Given the description of an element on the screen output the (x, y) to click on. 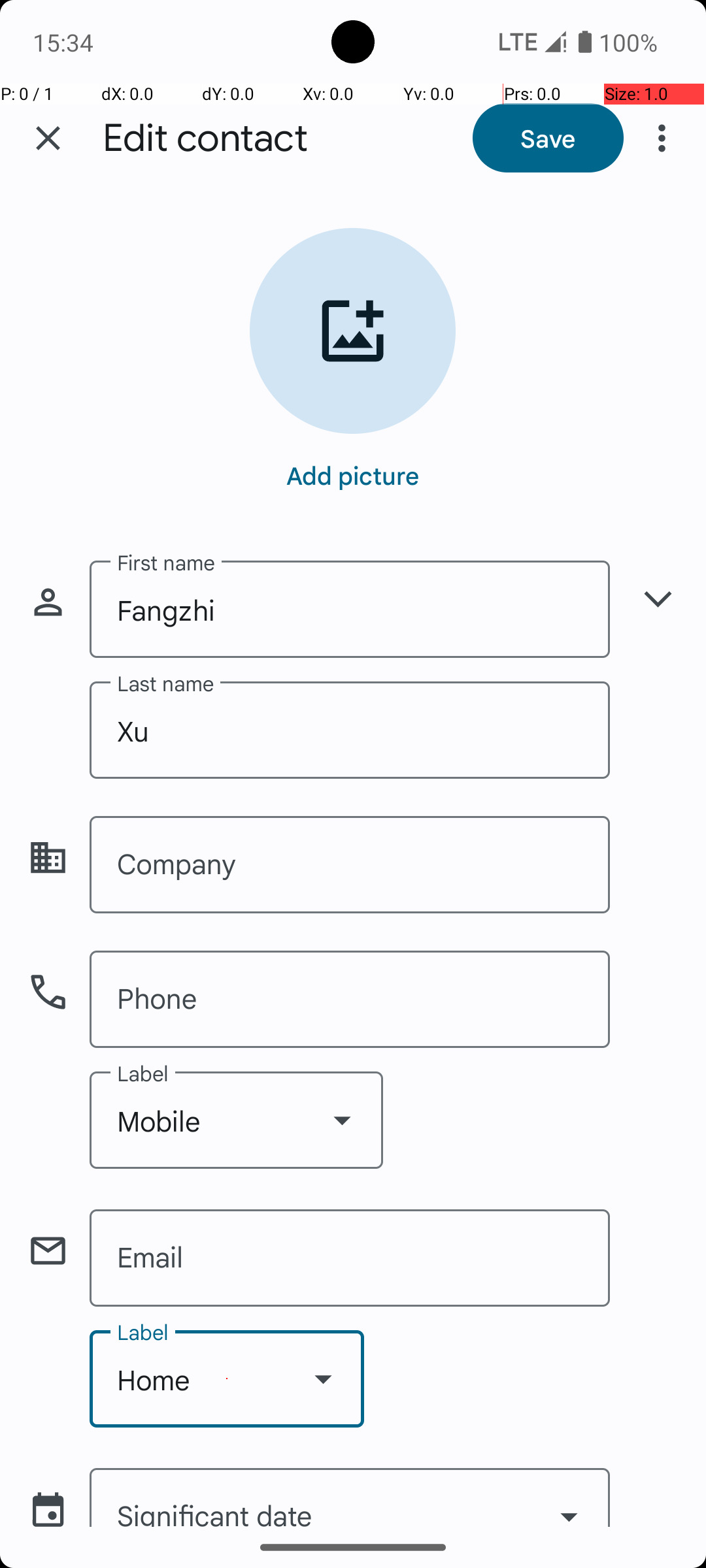
Edit contact Element type: android.widget.TextView (205, 138)
Add picture Element type: android.widget.Button (352, 474)
Fangzhi Element type: android.widget.EditText (349, 608)
Xu Element type: android.widget.EditText (349, 729)
Significant date Element type: android.widget.EditText (349, 1497)
Show date picker Element type: android.widget.ImageButton (568, 1500)
